Given the description of an element on the screen output the (x, y) to click on. 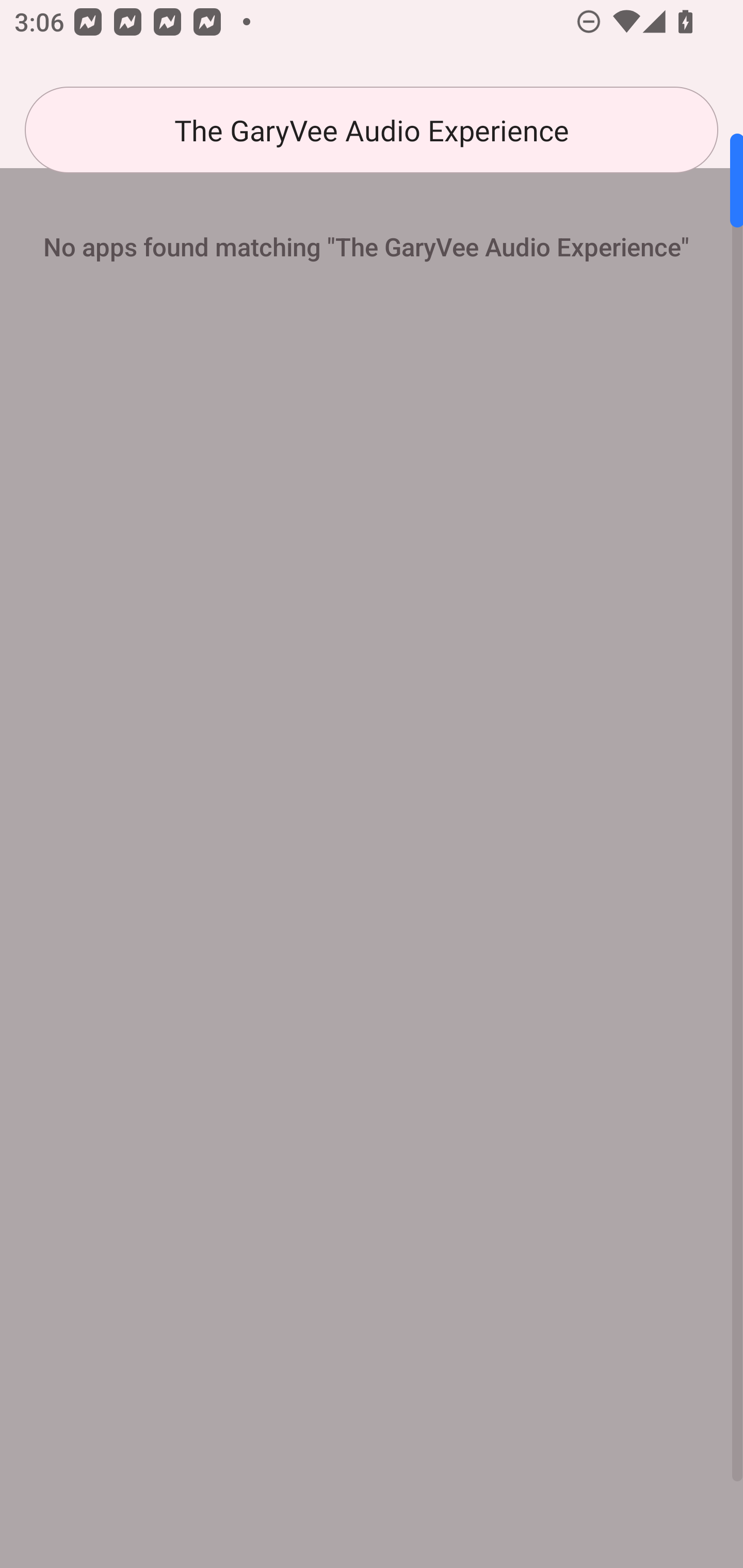
The GaryVee Audio Experience (371, 130)
